Given the description of an element on the screen output the (x, y) to click on. 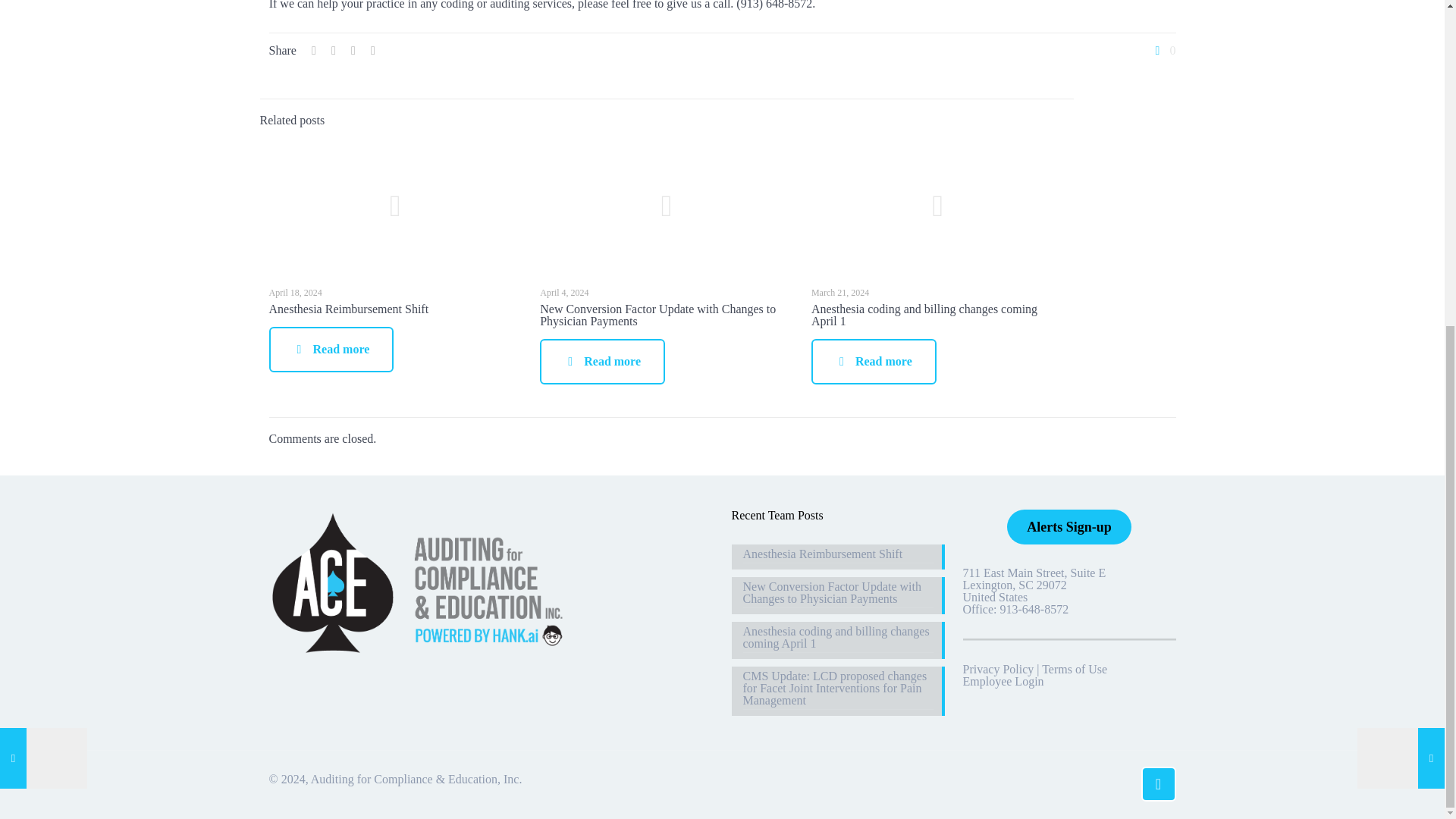
Anesthesia coding and billing changes coming April 1 (923, 314)
Read more (602, 361)
Read more (330, 349)
0 (1162, 50)
Read more (873, 361)
Anesthesia Reimbursement Shift (347, 308)
